Given the description of an element on the screen output the (x, y) to click on. 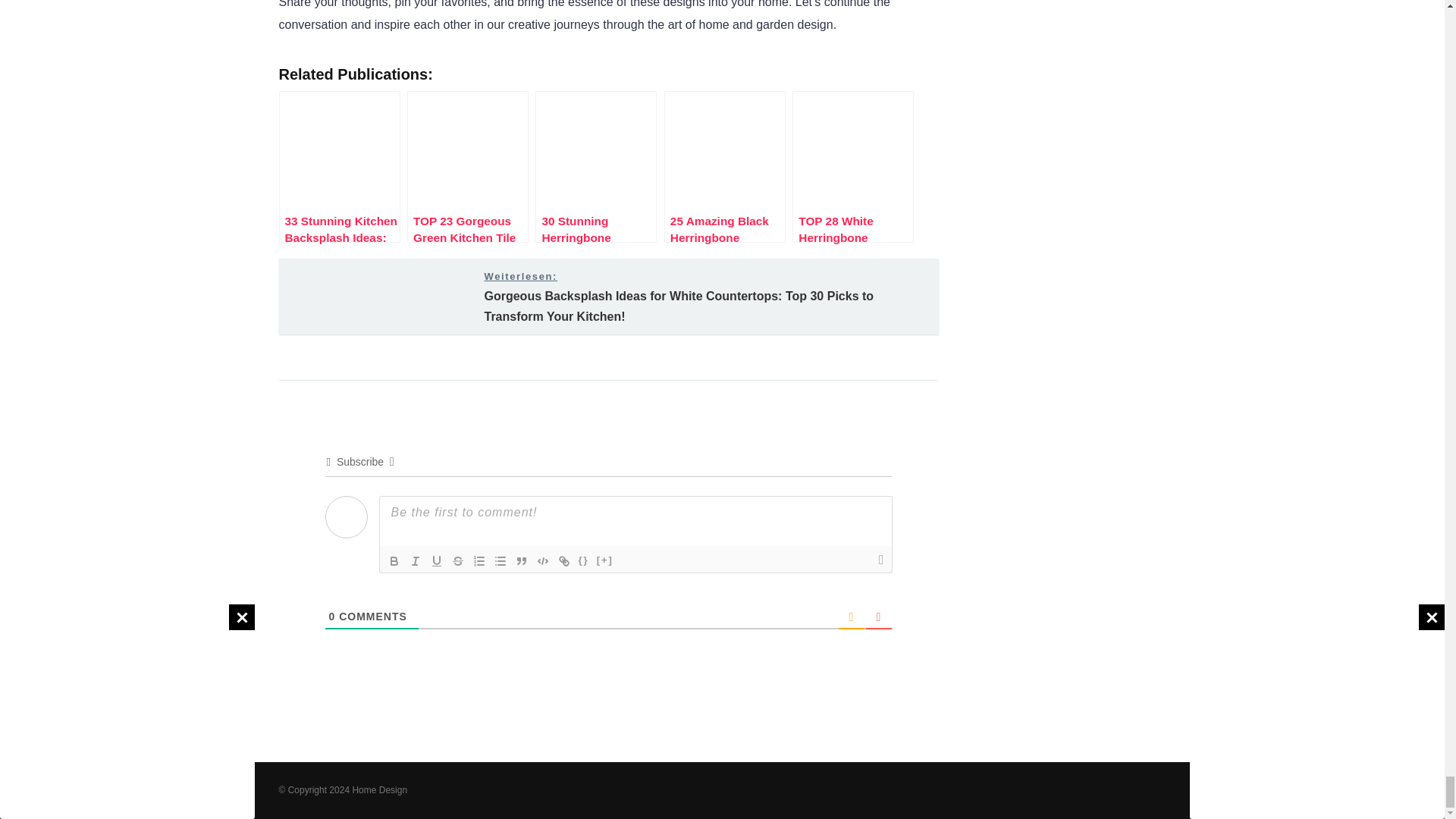
Bold (394, 561)
Unordered List (500, 561)
bullet (500, 561)
Strike (457, 561)
ordered (478, 561)
Ordered List (478, 561)
Italic (415, 561)
Underline (436, 561)
